Given the description of an element on the screen output the (x, y) to click on. 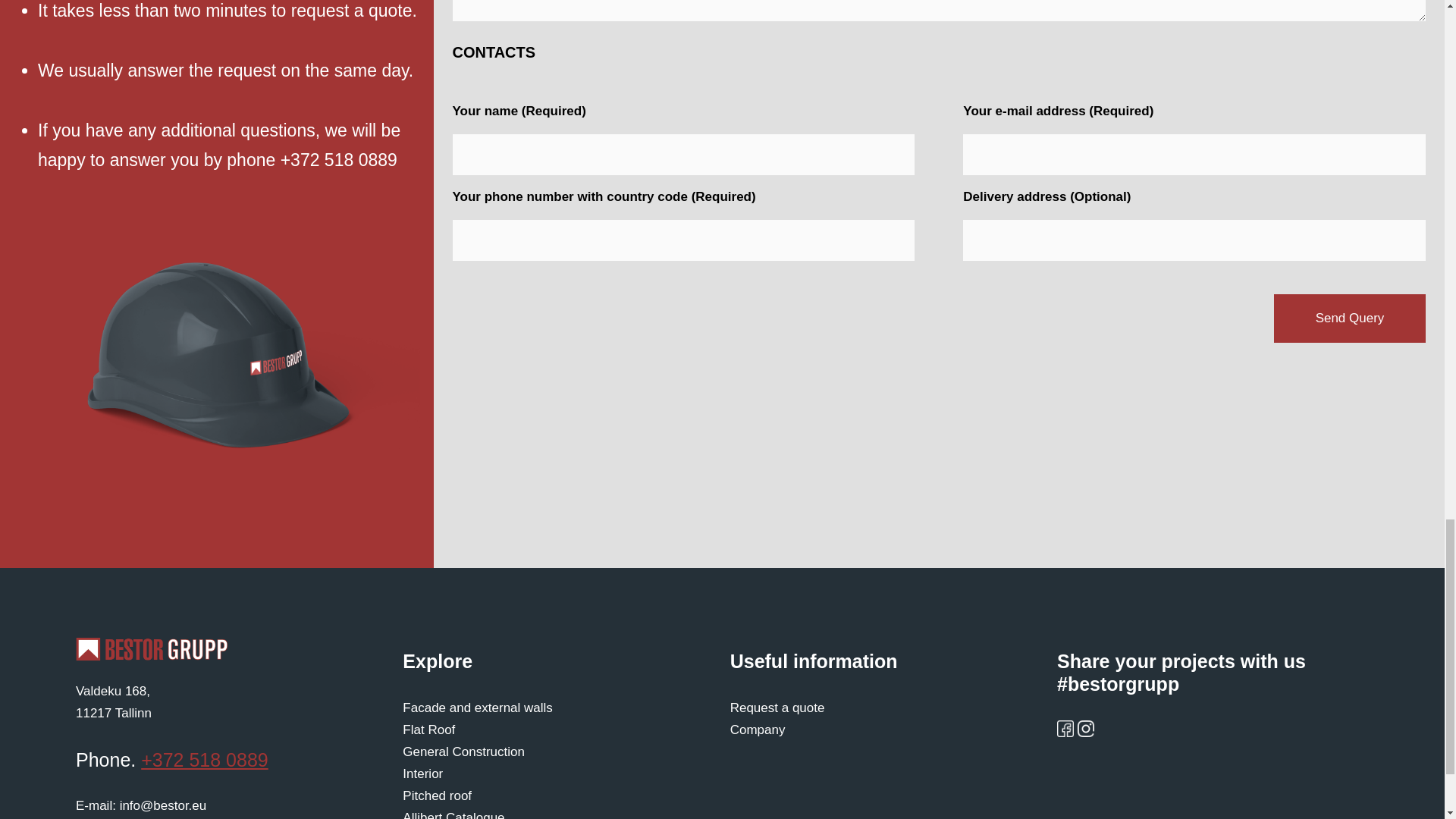
Allibert Catalogue (453, 814)
Send Query (1349, 318)
Flat Roof (428, 729)
Pitched roof (113, 701)
Send Query (437, 795)
Interior (1349, 318)
Bestor Grupp AS (422, 773)
General Construction (151, 649)
Facade and external walls (463, 751)
